Given the description of an element on the screen output the (x, y) to click on. 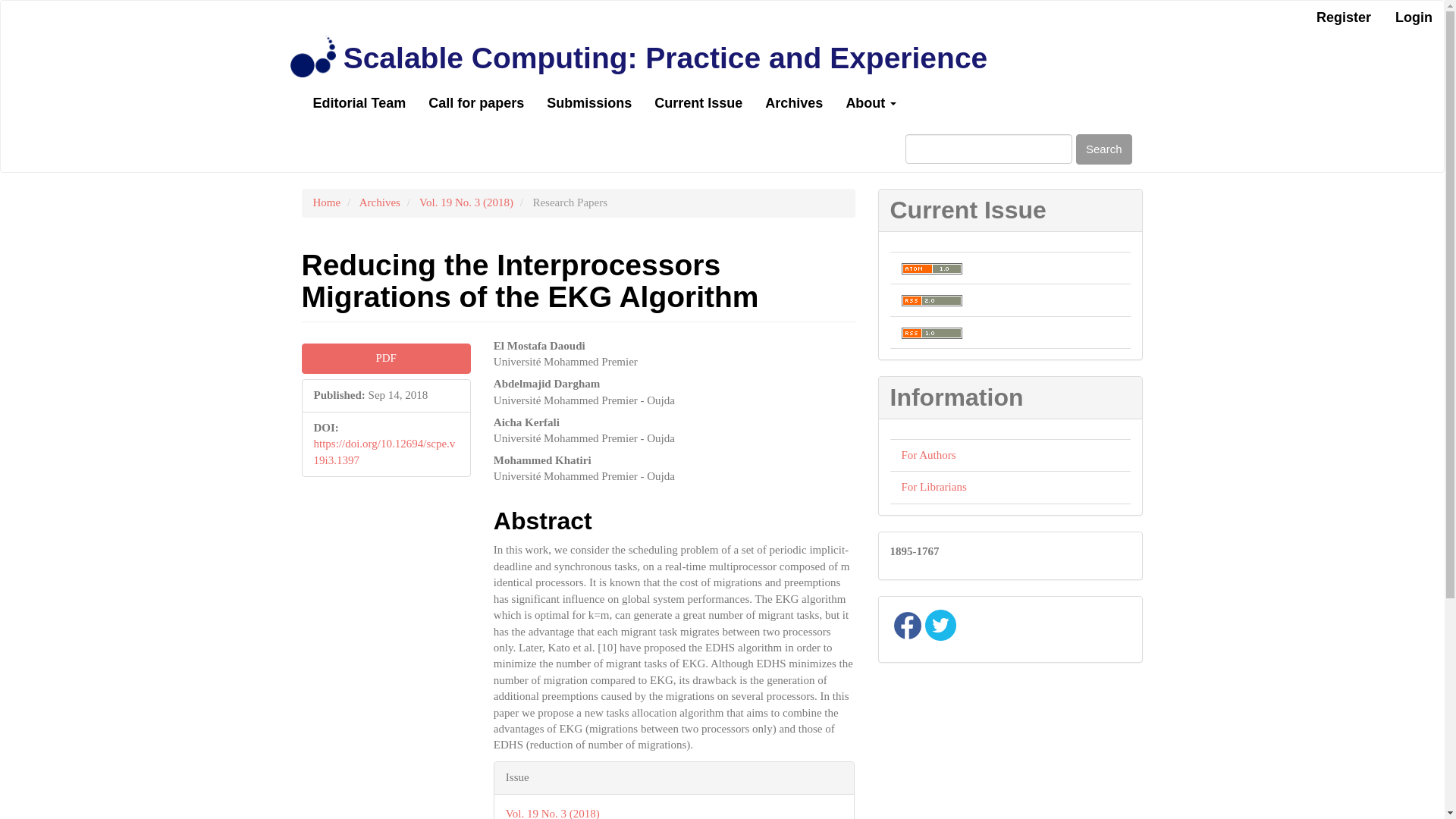
Home (326, 202)
Register (1342, 18)
Current Issue (698, 103)
About (870, 103)
PDF (385, 358)
For Authors (928, 454)
Login (1414, 18)
Scalable Computing: Practice and Experience (664, 58)
Editorial Team (359, 103)
For Librarians (933, 486)
